Given the description of an element on the screen output the (x, y) to click on. 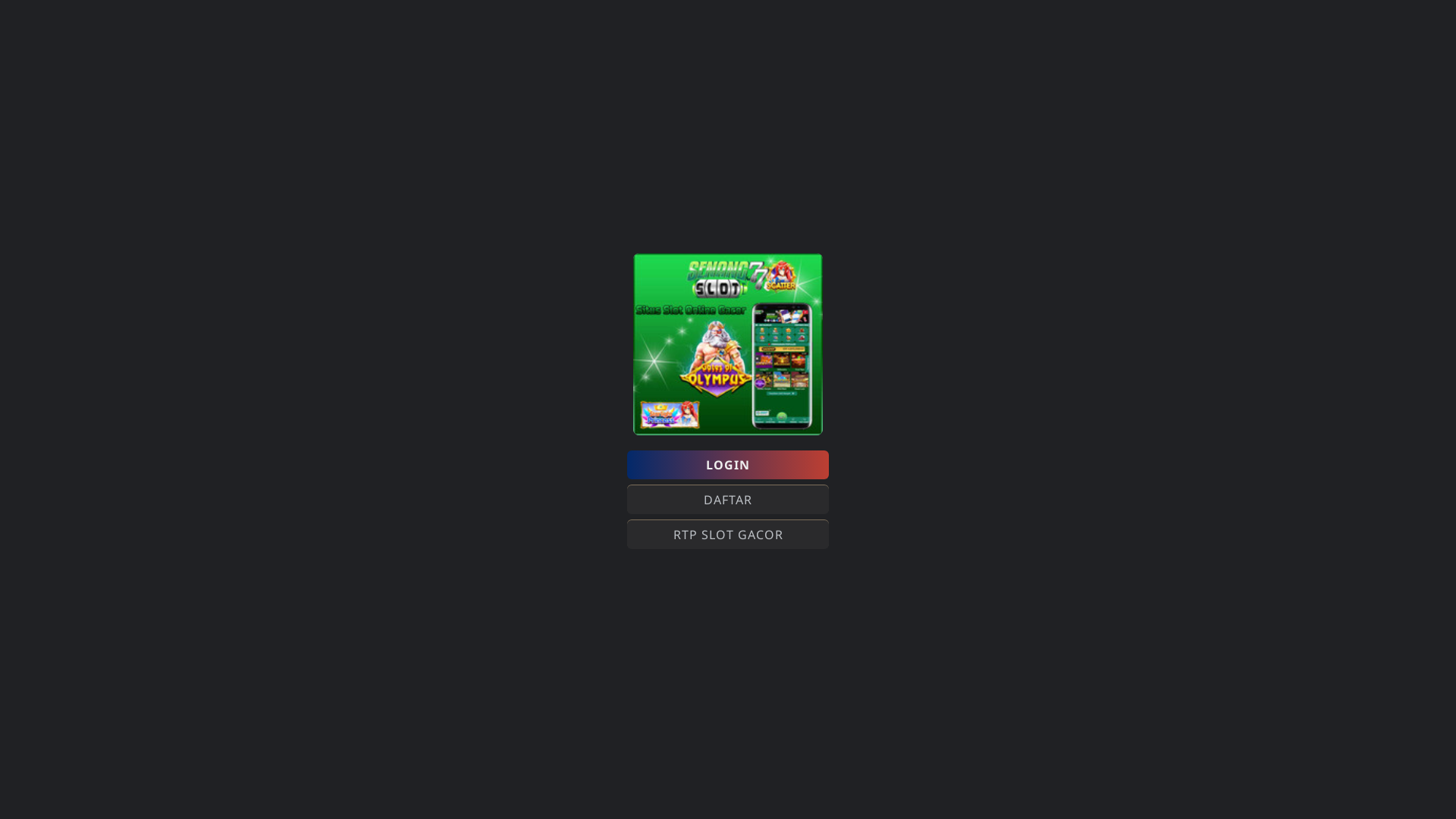
LOGIN Element type: text (728, 464)
RTP SLOT GACOR Element type: text (728, 534)
DAFTAR Element type: text (728, 499)
